Given the description of an element on the screen output the (x, y) to click on. 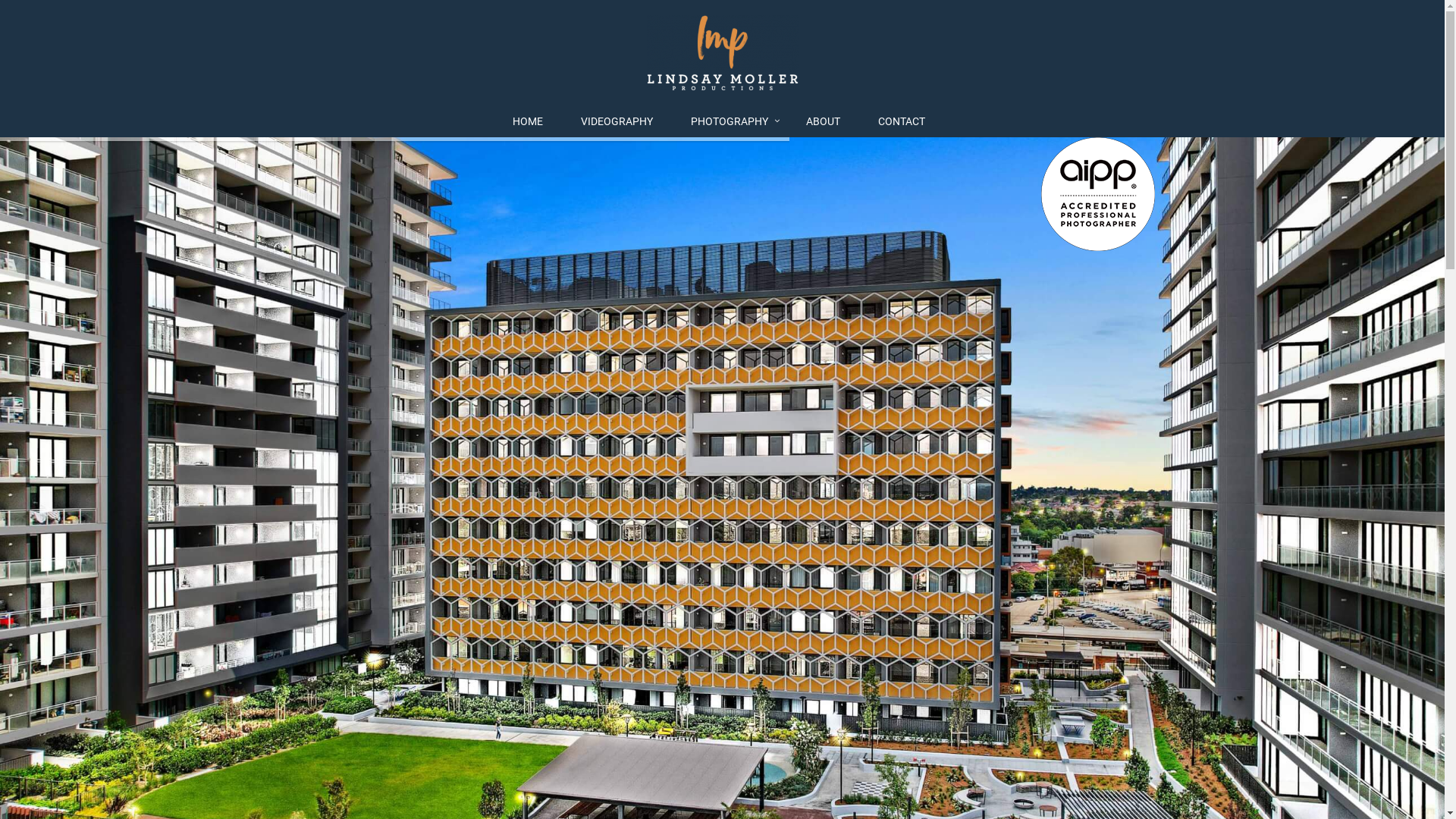
ABOUT Element type: text (826, 121)
VIDEOGRAPHY Element type: text (620, 121)
HOME Element type: text (531, 121)
PHOTOGRAPHY Element type: text (732, 121)
CONTACT Element type: text (904, 121)
